Given the description of an element on the screen output the (x, y) to click on. 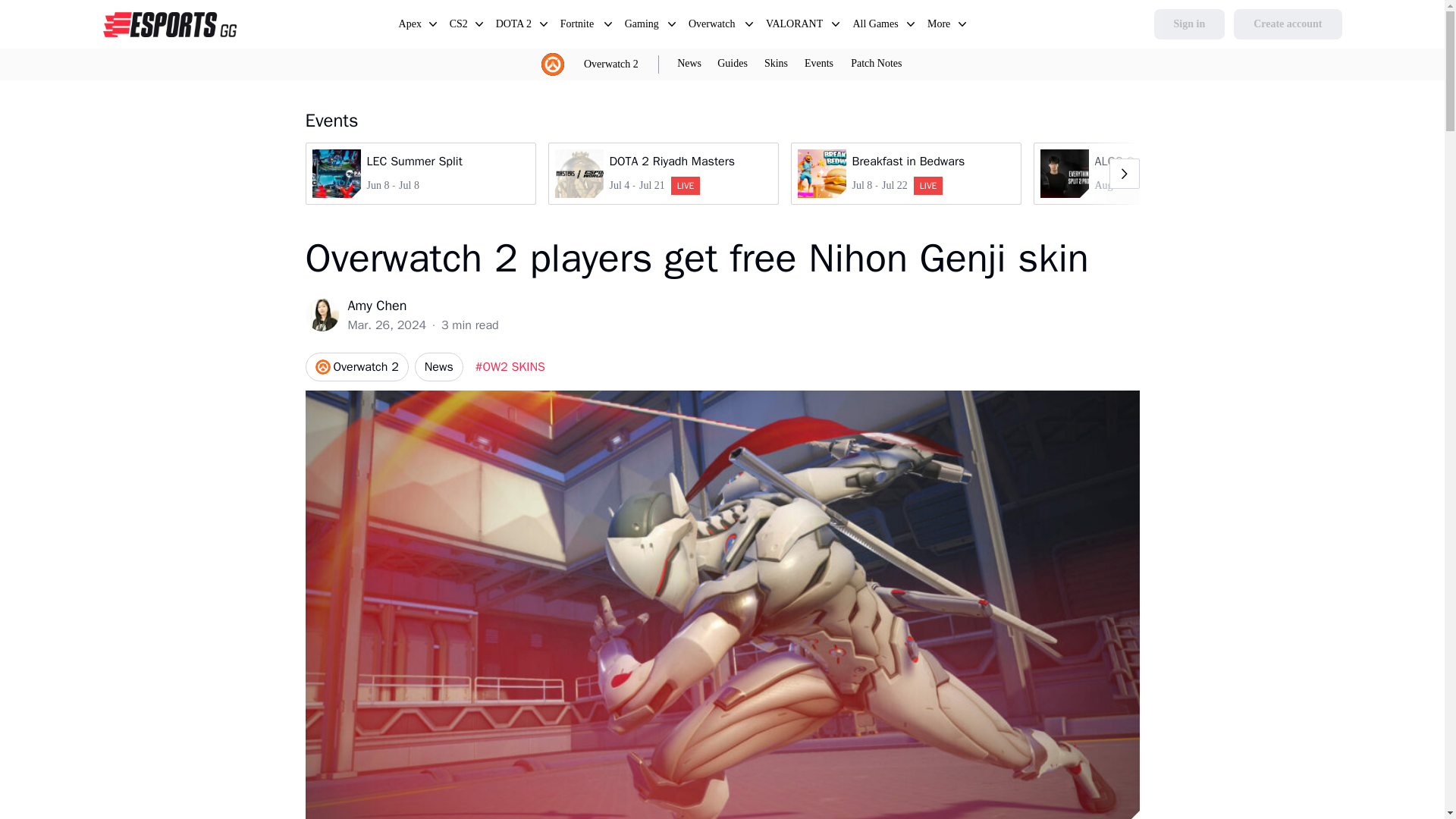
Apex (410, 25)
Overwatch 2 (611, 64)
Overwatch 2 (355, 366)
Events (818, 64)
More (1147, 173)
Guides (939, 25)
Gaming (732, 64)
Overwatch 2 (662, 173)
Sign in (642, 25)
Apex (611, 64)
DOTA 2 (1189, 24)
News (410, 25)
